Given the description of an element on the screen output the (x, y) to click on. 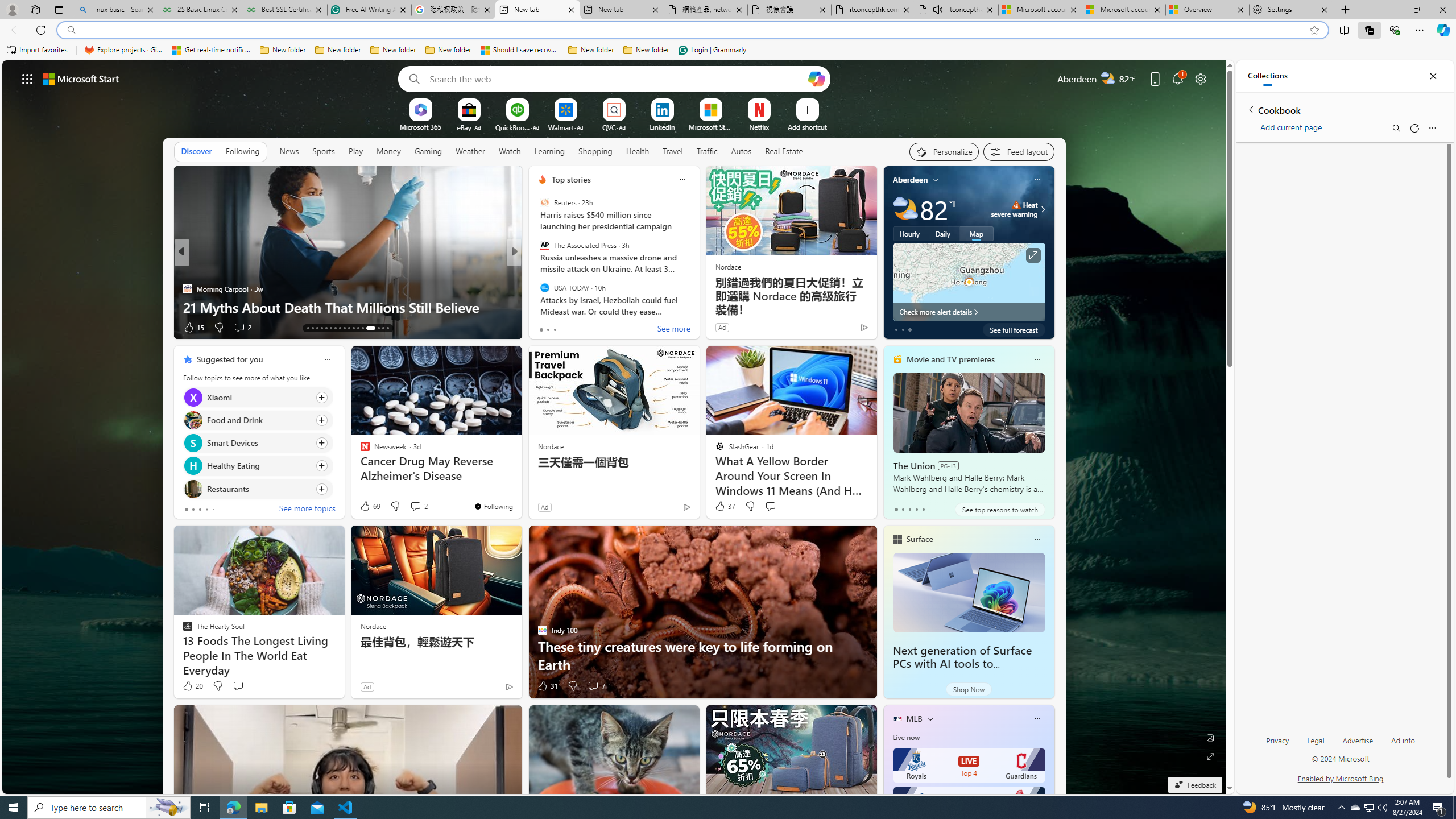
AutomationID: tab-20 (339, 328)
Shop Now (968, 689)
Gaming (428, 151)
AutomationID: tab-24 (358, 328)
Click to follow topic Xiaomi (257, 397)
Real Estate (783, 151)
Suggested for you (229, 359)
31 Like (546, 685)
Royals LIVE Top 4 Guardians (968, 765)
